Given the description of an element on the screen output the (x, y) to click on. 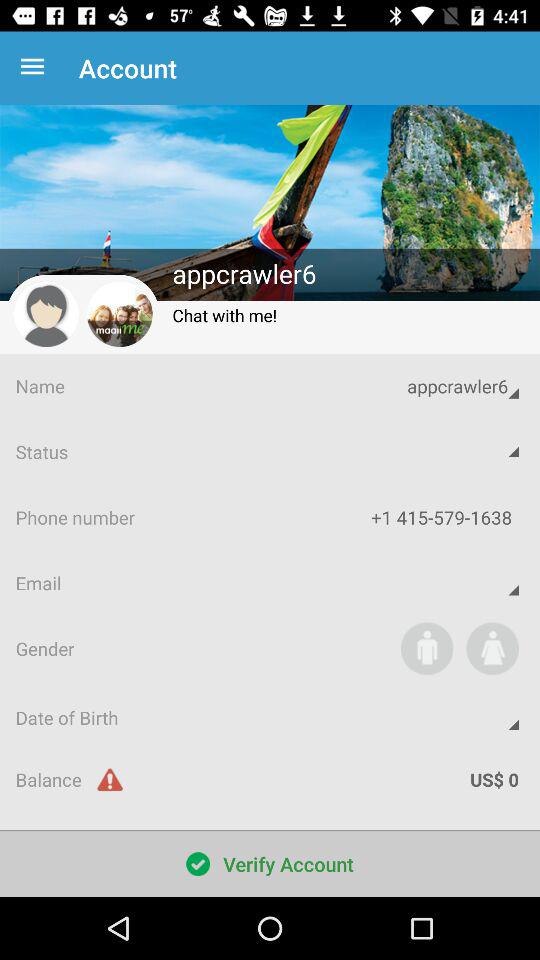
turn on icon below email app (492, 648)
